Given the description of an element on the screen output the (x, y) to click on. 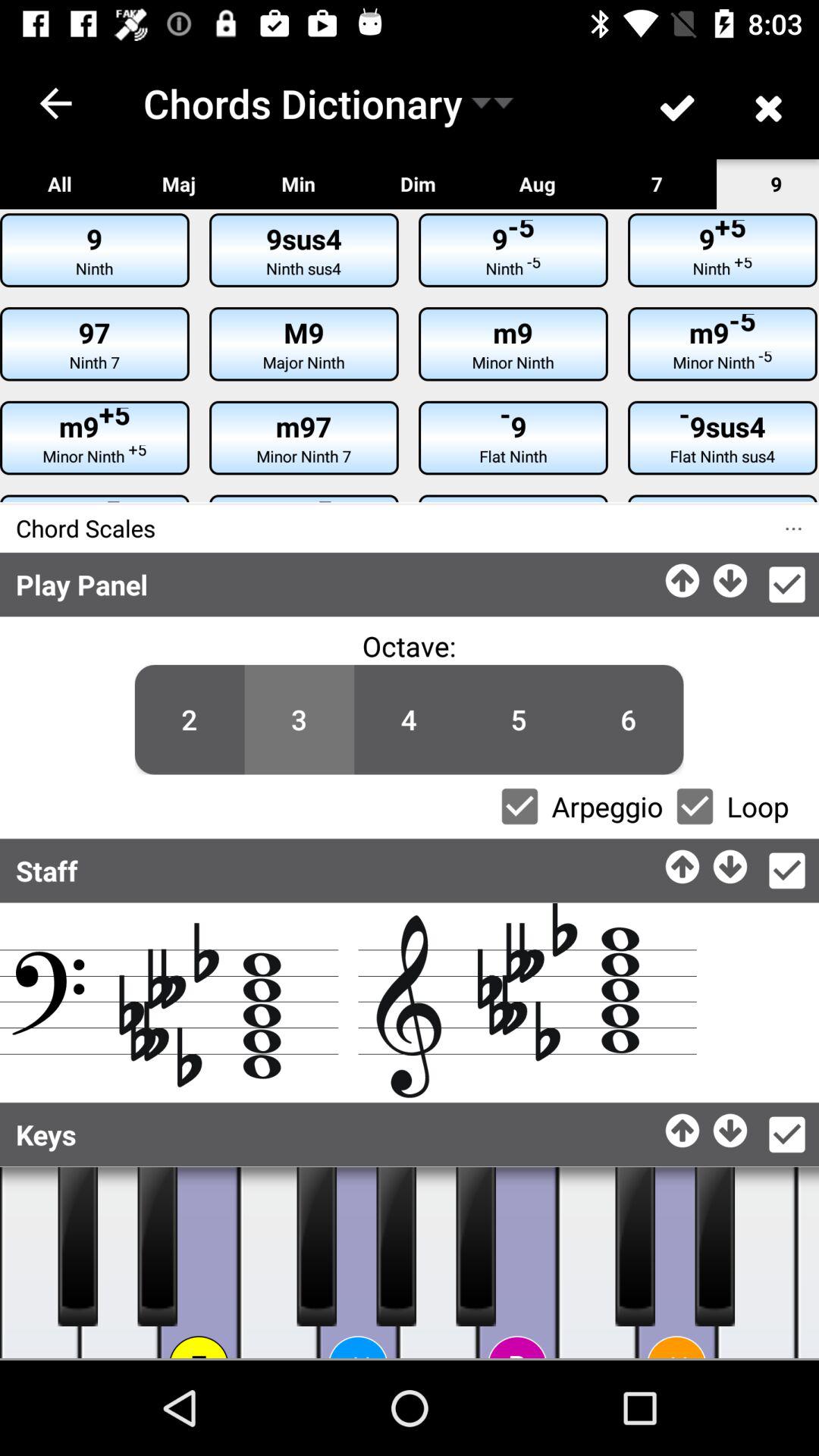
go up (683, 862)
